Given the description of an element on the screen output the (x, y) to click on. 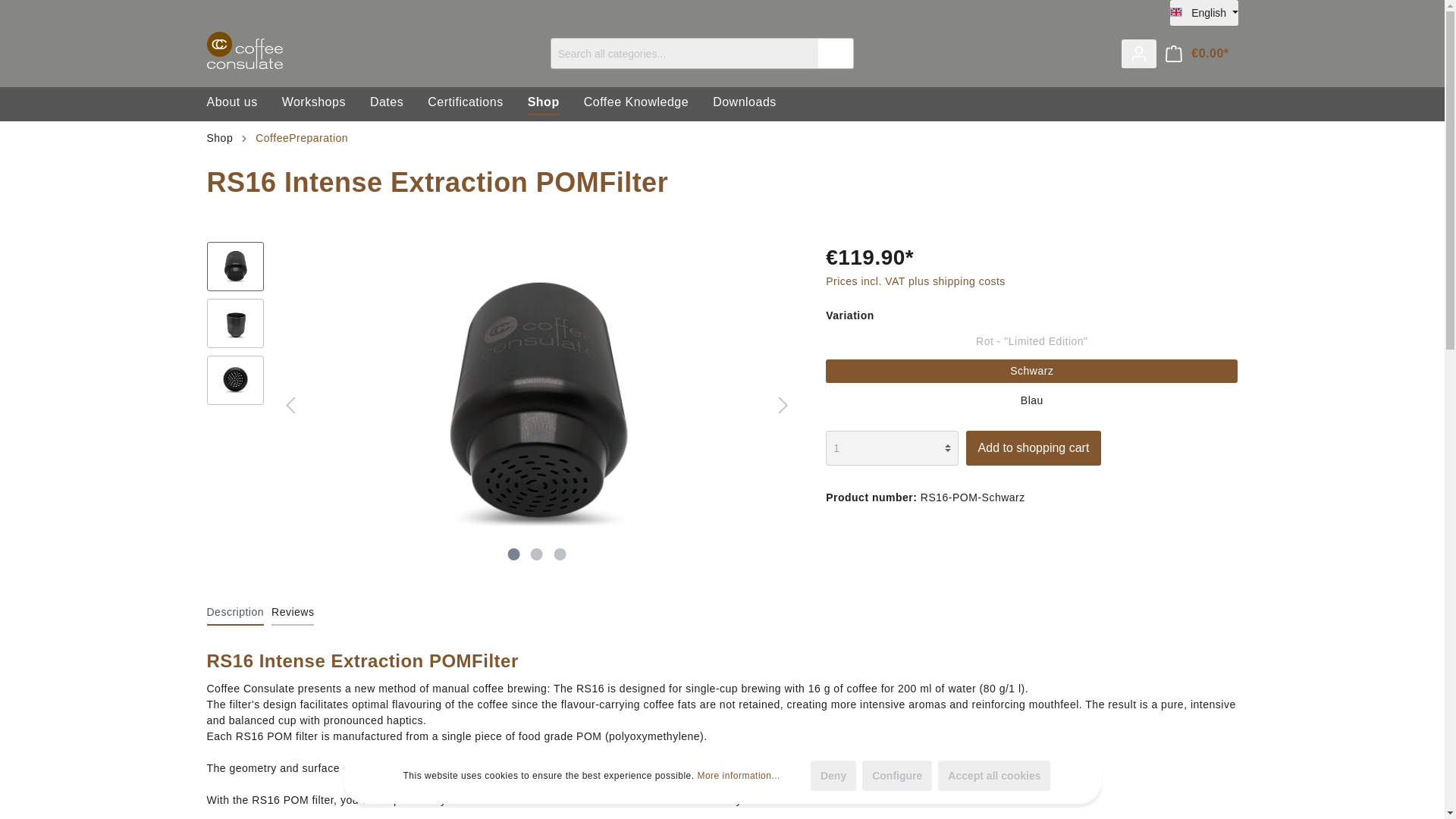
Go to homepage (244, 49)
Shop (555, 103)
Dates (398, 103)
Certifications (477, 103)
My account (1138, 53)
Dates (398, 103)
Shop (555, 103)
Workshops (325, 103)
English (1203, 12)
Shopping cart (1197, 53)
Certifications (477, 103)
About us (243, 103)
Coffee Knowledge (648, 103)
Workshops (325, 103)
Downloads (756, 103)
